Given the description of an element on the screen output the (x, y) to click on. 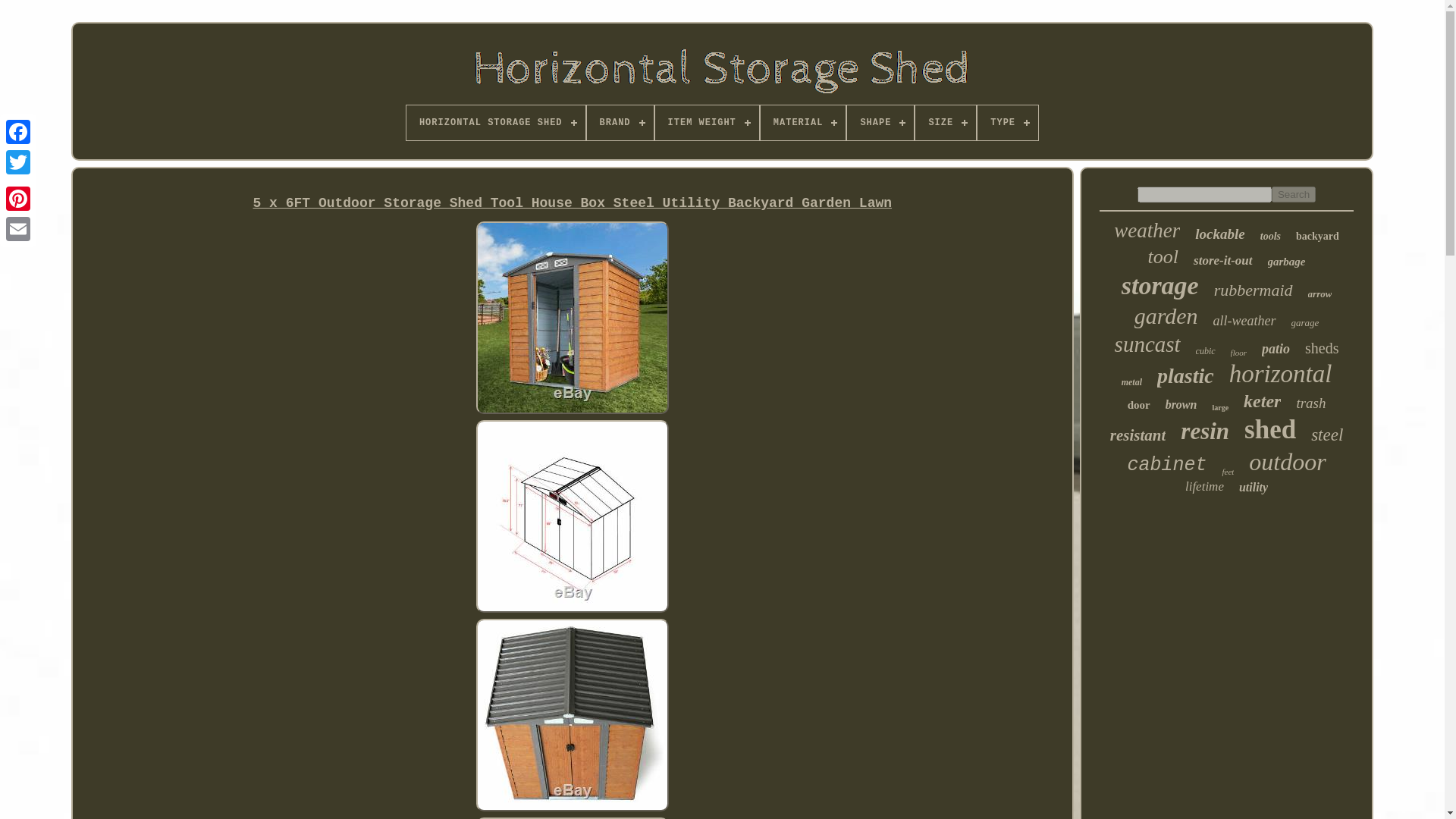
HORIZONTAL STORAGE SHED (495, 122)
BRAND (619, 122)
Search (1293, 194)
ITEM WEIGHT (706, 122)
